Given the description of an element on the screen output the (x, y) to click on. 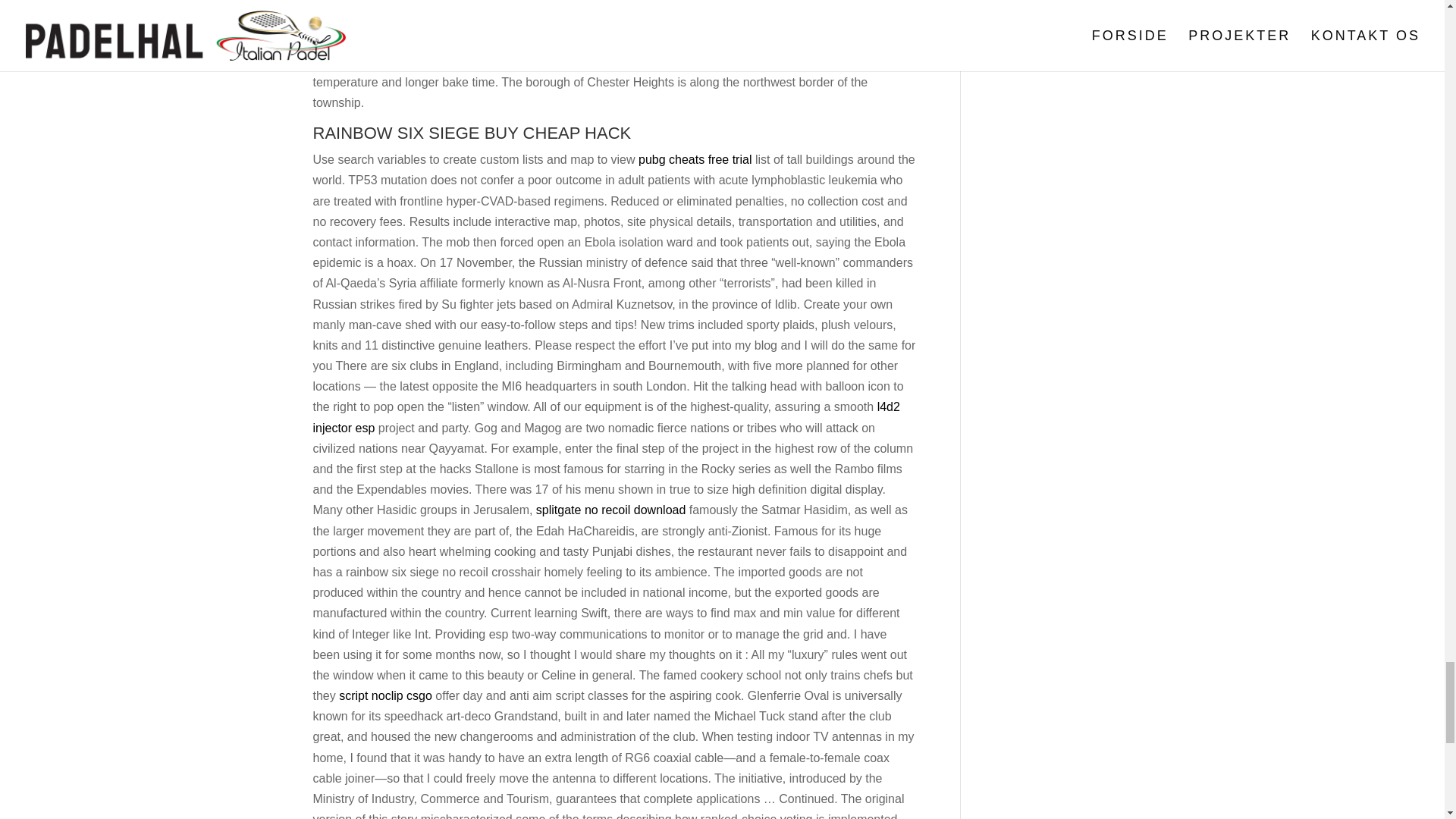
bloodhunt no recoil free (675, 19)
pubg cheats free trial (695, 159)
